Given the description of an element on the screen output the (x, y) to click on. 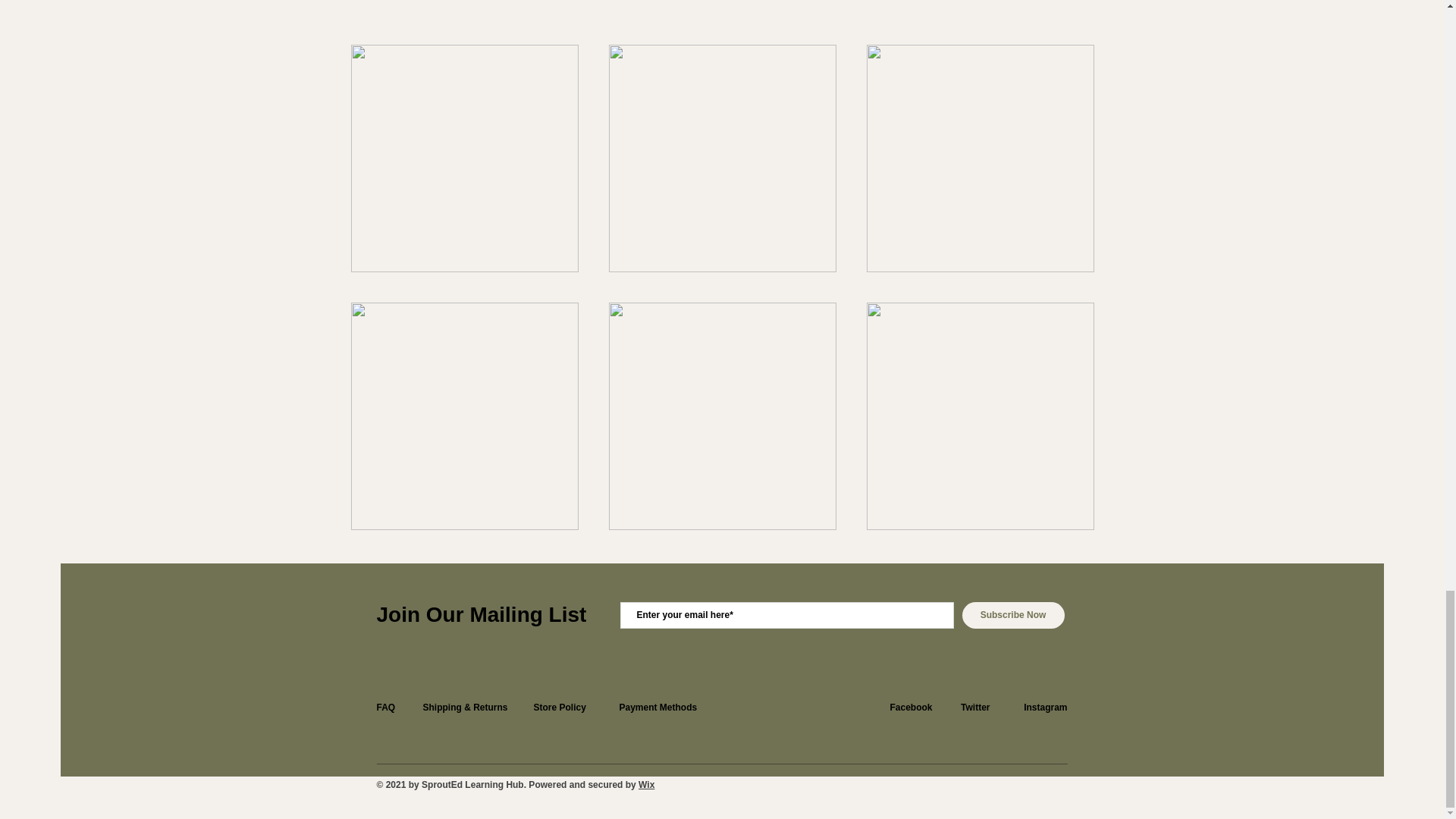
Store Policy (560, 706)
Instagram (1045, 706)
FAQ (384, 706)
Subscribe Now (1012, 614)
Twitter (975, 706)
Payment Methods (657, 706)
Facebook (910, 706)
Wix (646, 784)
